Given the description of an element on the screen output the (x, y) to click on. 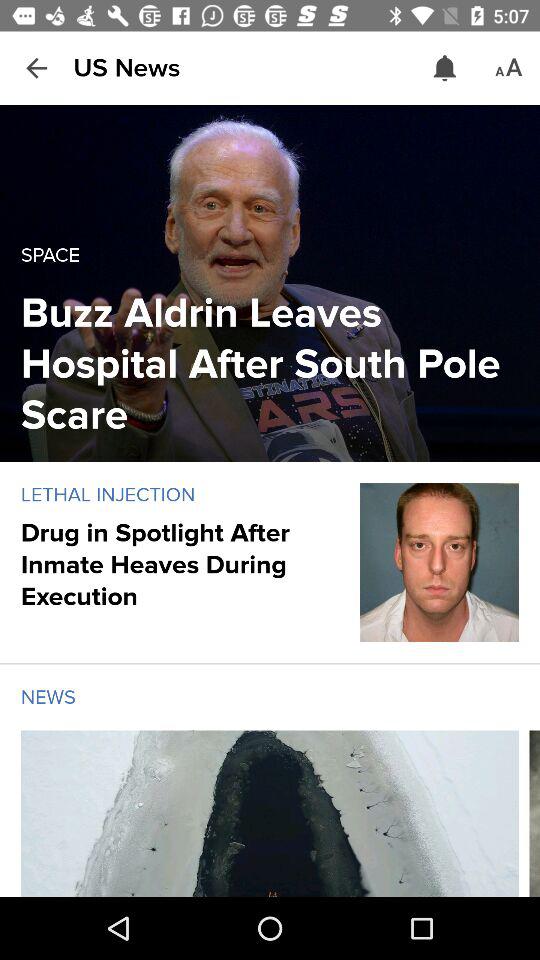
swipe to us news item (126, 68)
